Given the description of an element on the screen output the (x, y) to click on. 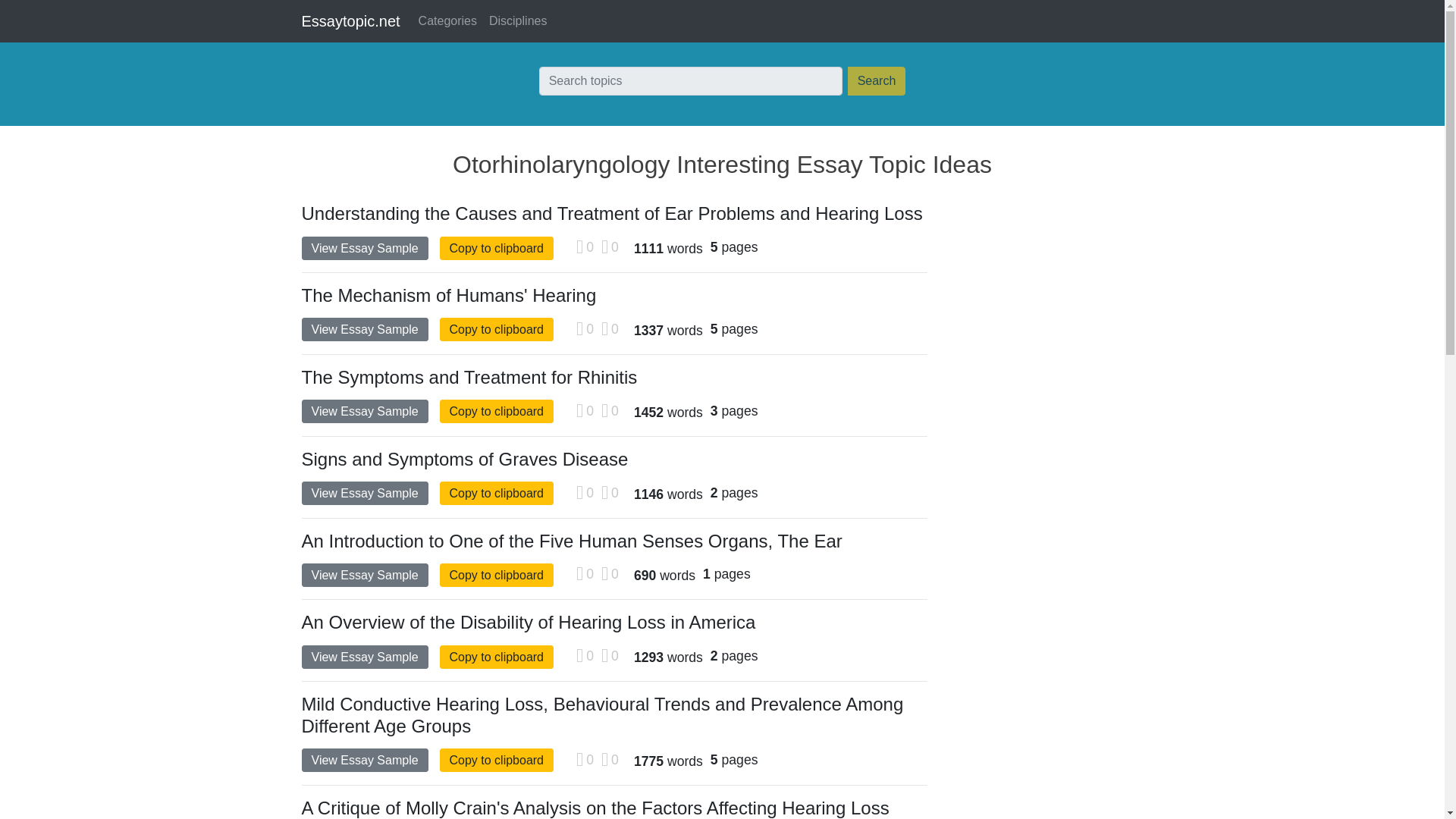
Categories (447, 20)
Copy to clipboard (496, 411)
Copy to clipboard (496, 575)
View Essay Sample (364, 493)
View Essay Sample (364, 575)
Copy to clipboard (496, 657)
View Essay Sample (364, 329)
View Essay Sample (364, 411)
Copy to clipboard (496, 248)
Copy to clipboard (496, 329)
